Given the description of an element on the screen output the (x, y) to click on. 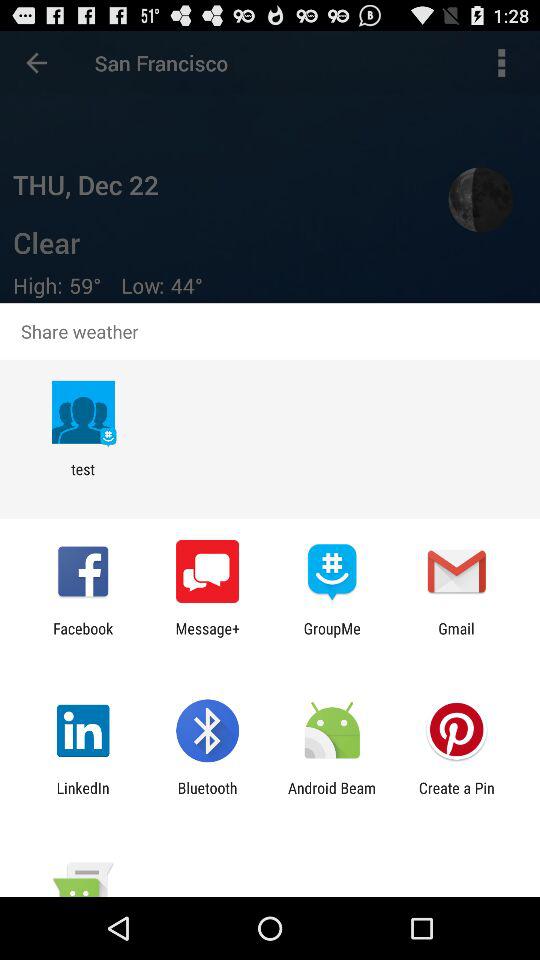
press facebook icon (83, 637)
